Given the description of an element on the screen output the (x, y) to click on. 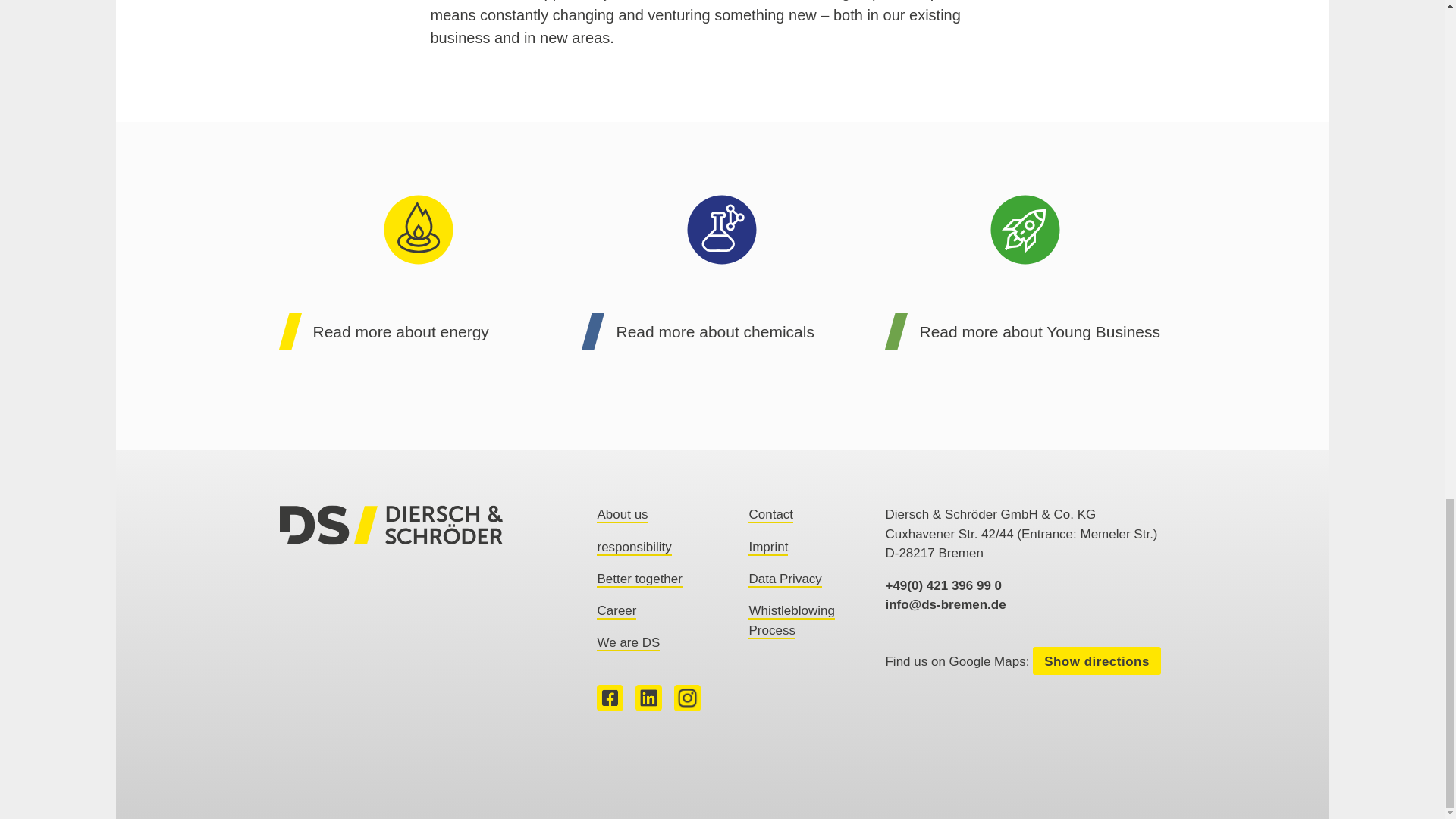
responsibility (633, 547)
Better together (638, 579)
Zur Facebook-Seite (609, 706)
Zur Instagram-Seite (687, 706)
We are DS (627, 643)
Zur Linkedin-Seite (648, 706)
Career (616, 611)
About us (621, 514)
